Given the description of an element on the screen output the (x, y) to click on. 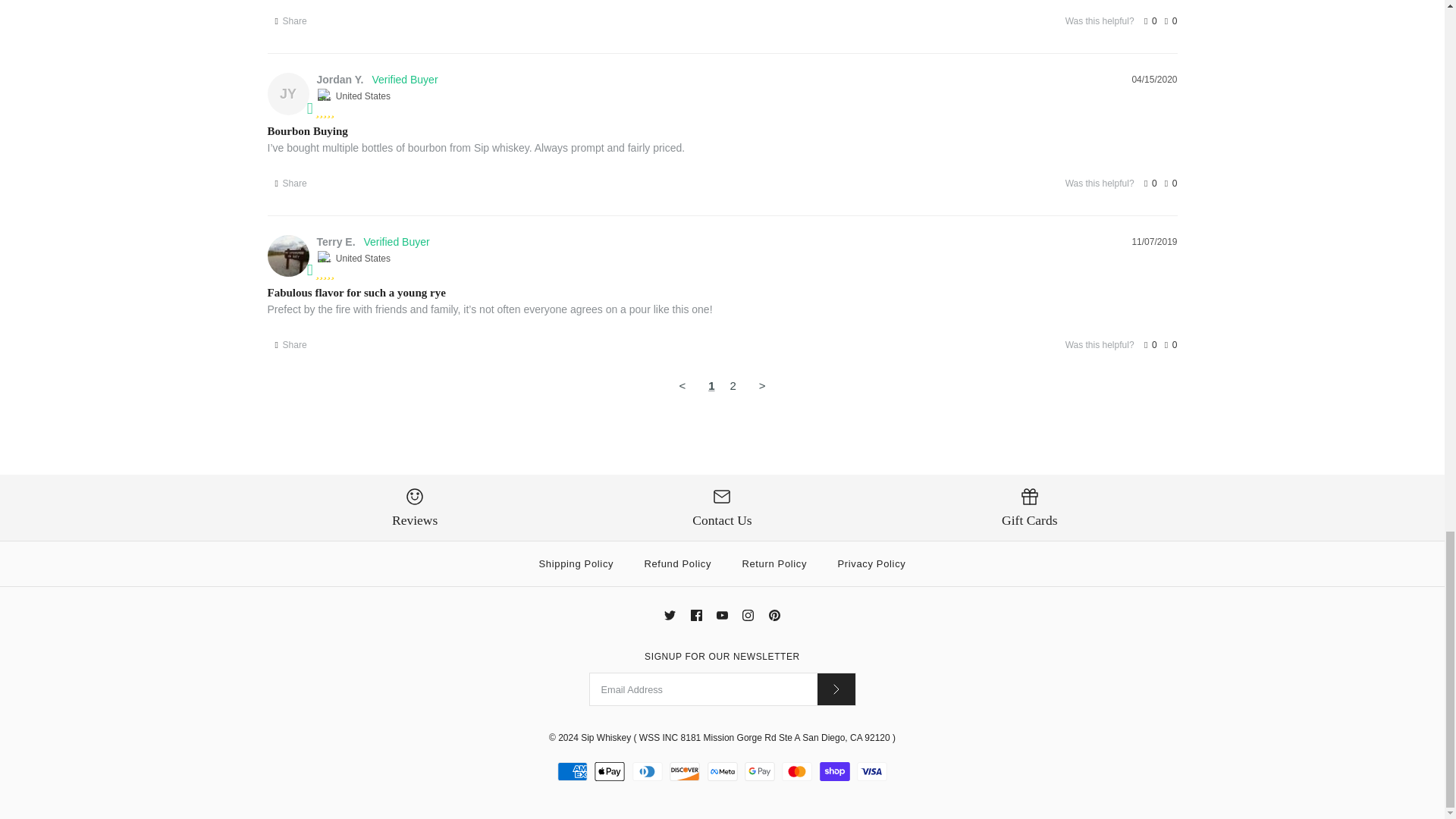
Youtube (722, 614)
Twitter (669, 614)
Instagram (748, 614)
American Express (572, 771)
Facebook (695, 614)
Pinterest (774, 614)
